Given the description of an element on the screen output the (x, y) to click on. 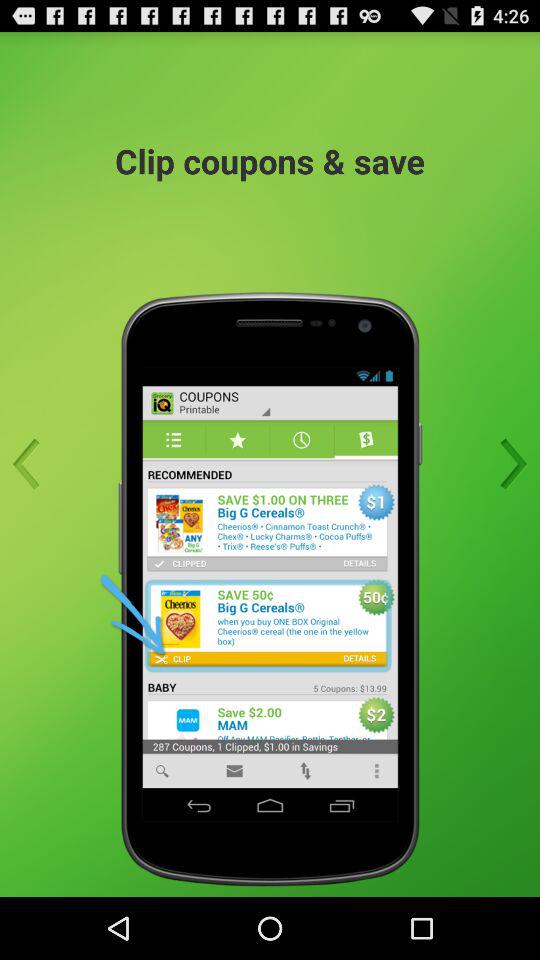
go next page (507, 464)
